Given the description of an element on the screen output the (x, y) to click on. 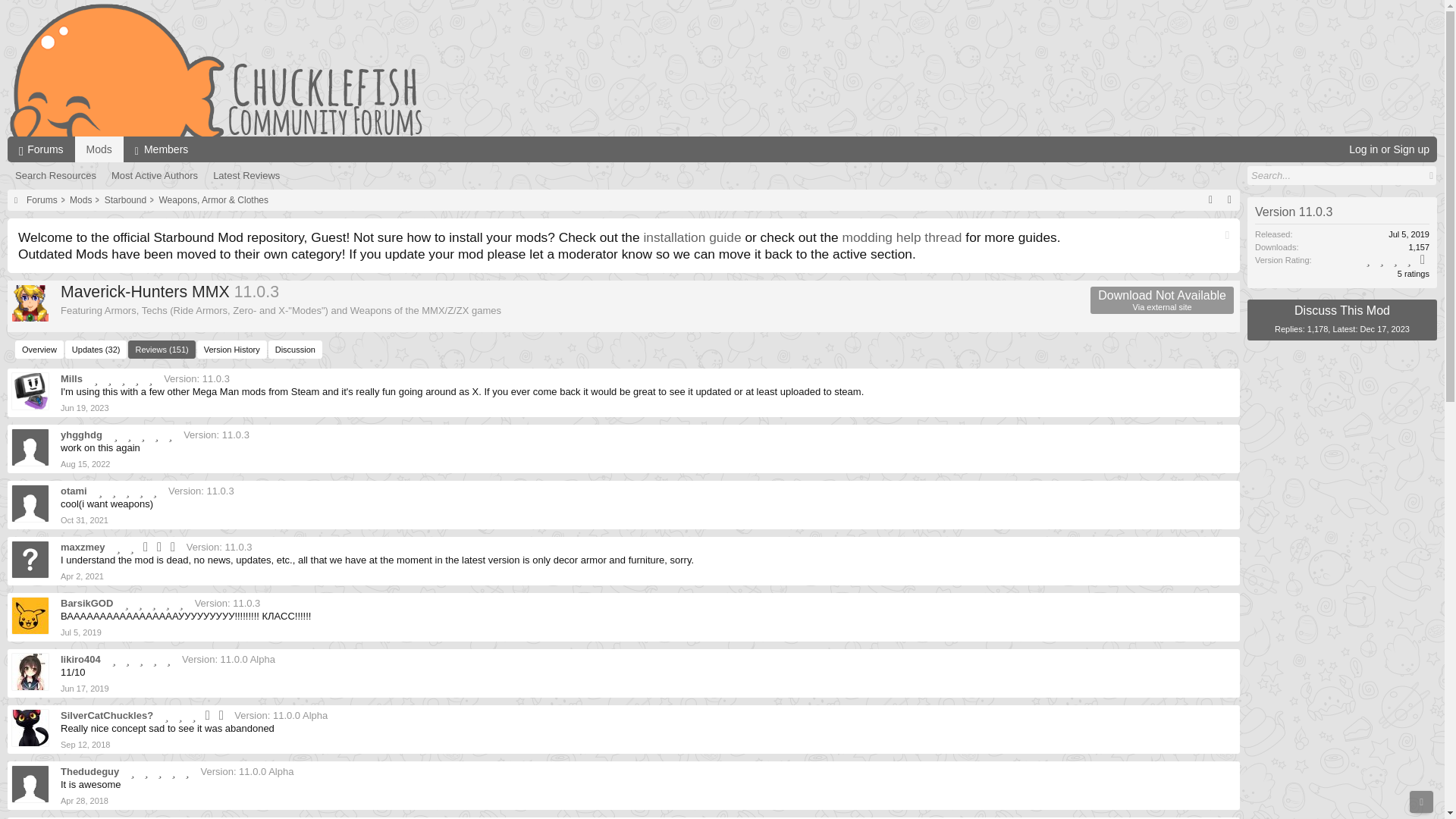
2.00 (147, 546)
Open quick navigation (1210, 200)
Overview (39, 349)
Permalink (85, 463)
Mods (1161, 299)
Permalink (99, 149)
Permalink (82, 575)
Jun 19, 2023 at 3:40 PM (85, 407)
Members (85, 407)
5.00 (161, 149)
Most Active Authors (144, 434)
Dismiss Notice (154, 175)
Mods (1227, 235)
